Given the description of an element on the screen output the (x, y) to click on. 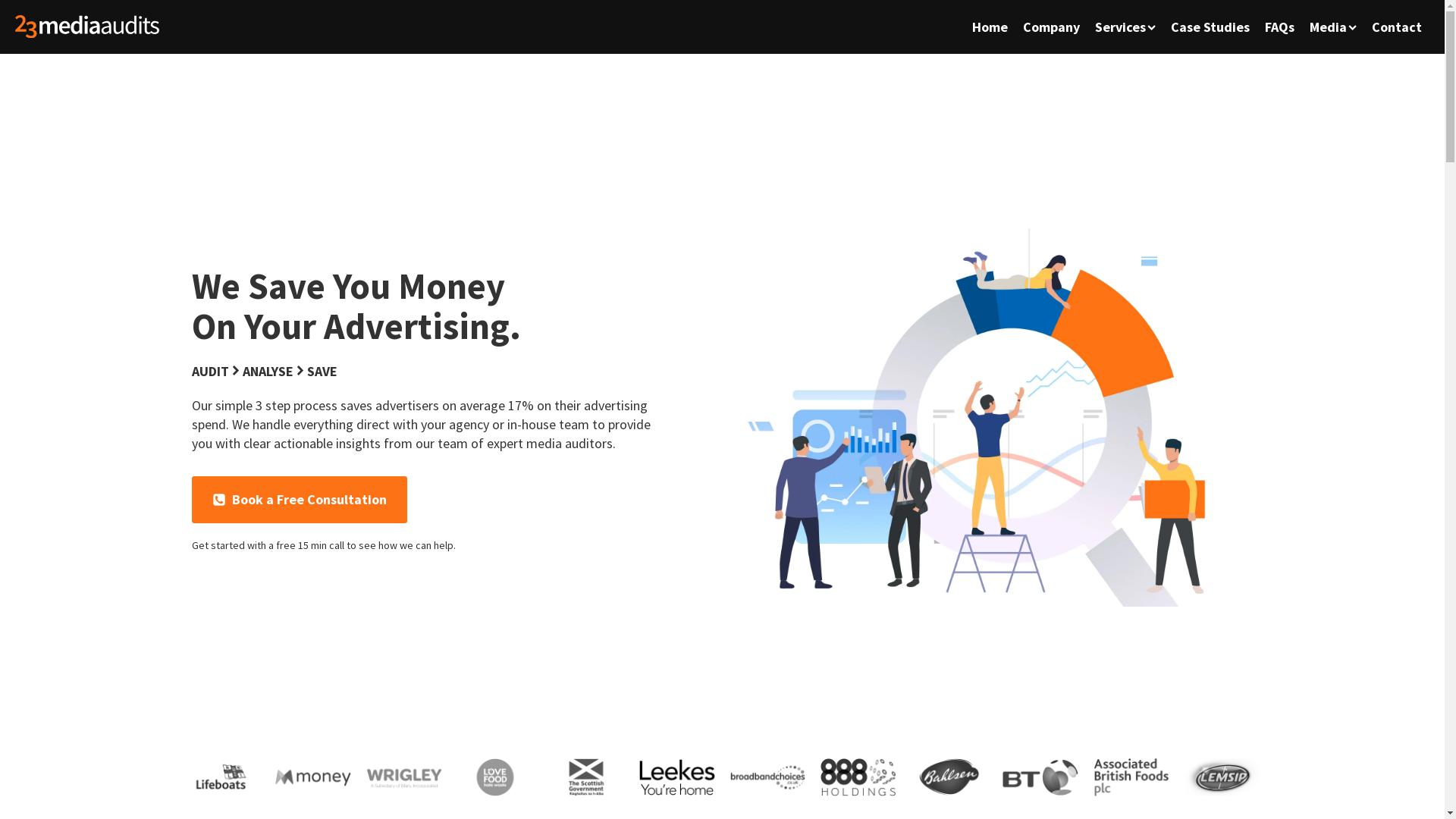
23 Media Audits Element type: text (87, 26)
Company Element type: text (1050, 26)
FAQs Element type: text (1279, 26)
Home Element type: text (989, 26)
Book a Free Consultation Element type: text (298, 500)
Case Studies Element type: text (1209, 26)
Contact Element type: text (1396, 26)
Services Element type: text (1125, 26)
Media Element type: text (1332, 26)
